Given the description of an element on the screen output the (x, y) to click on. 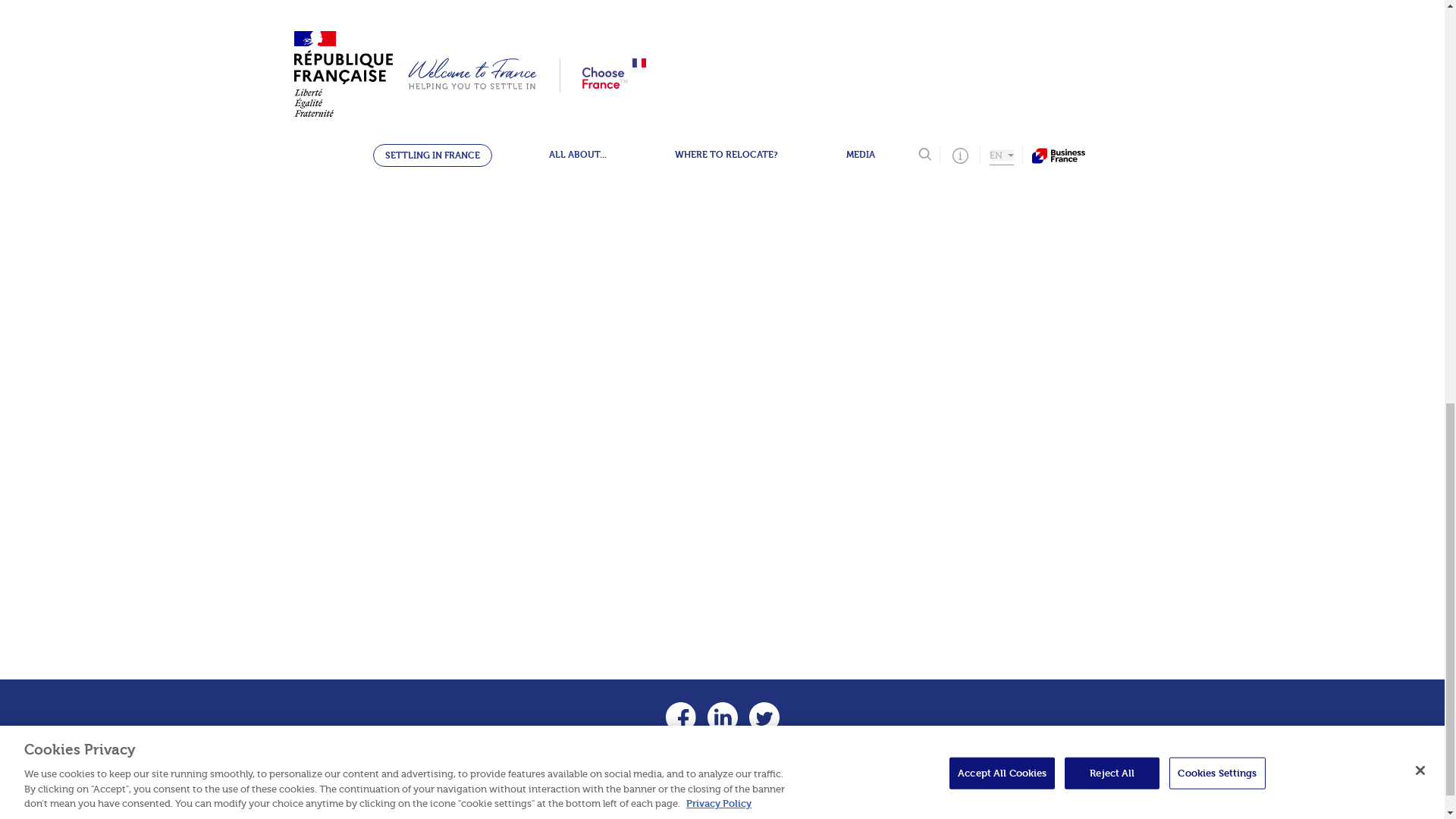
Controlling immigration while improving integration (736, 157)
